Given the description of an element on the screen output the (x, y) to click on. 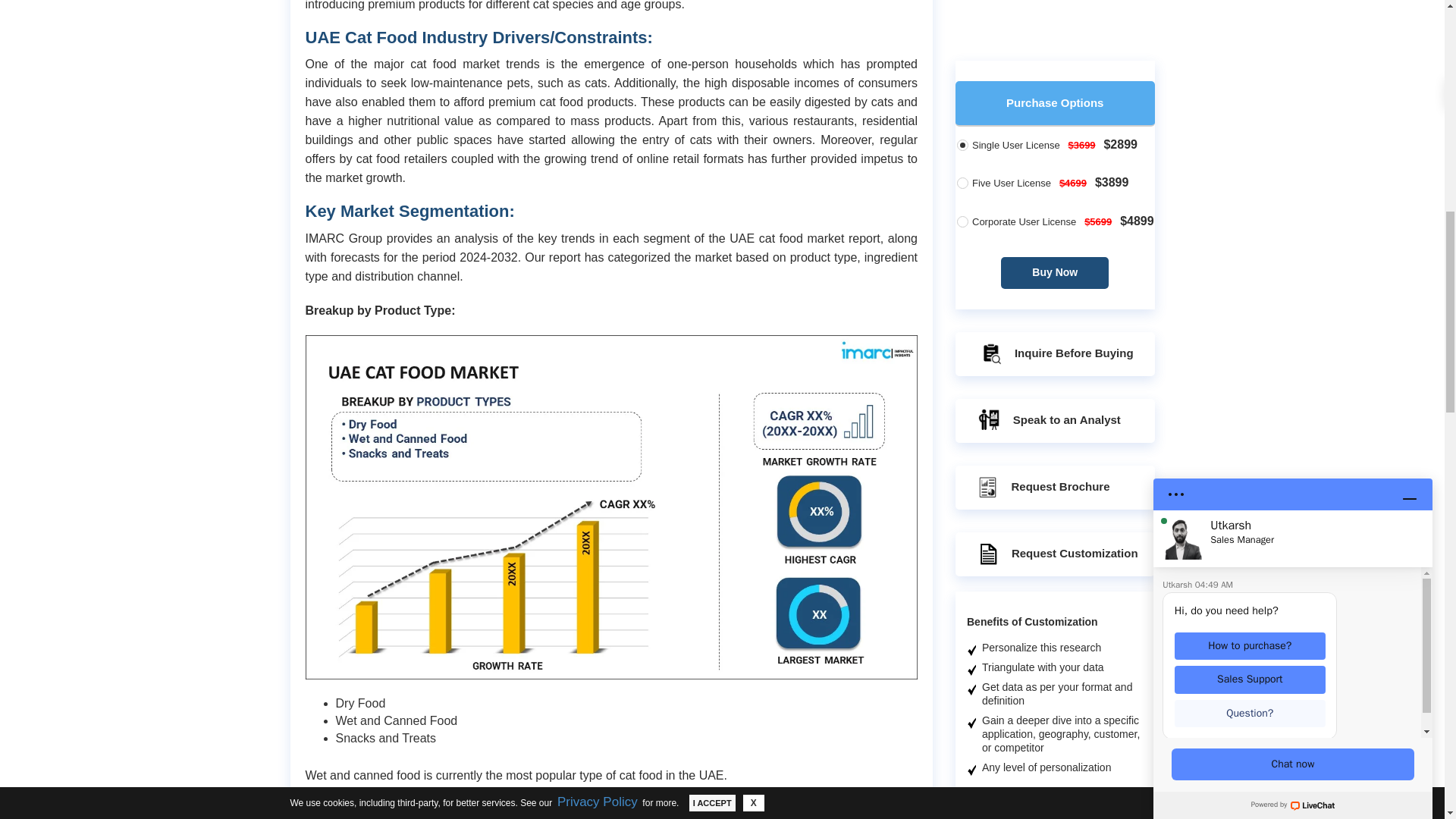
Know more (1081, 817)
